Given the description of an element on the screen output the (x, y) to click on. 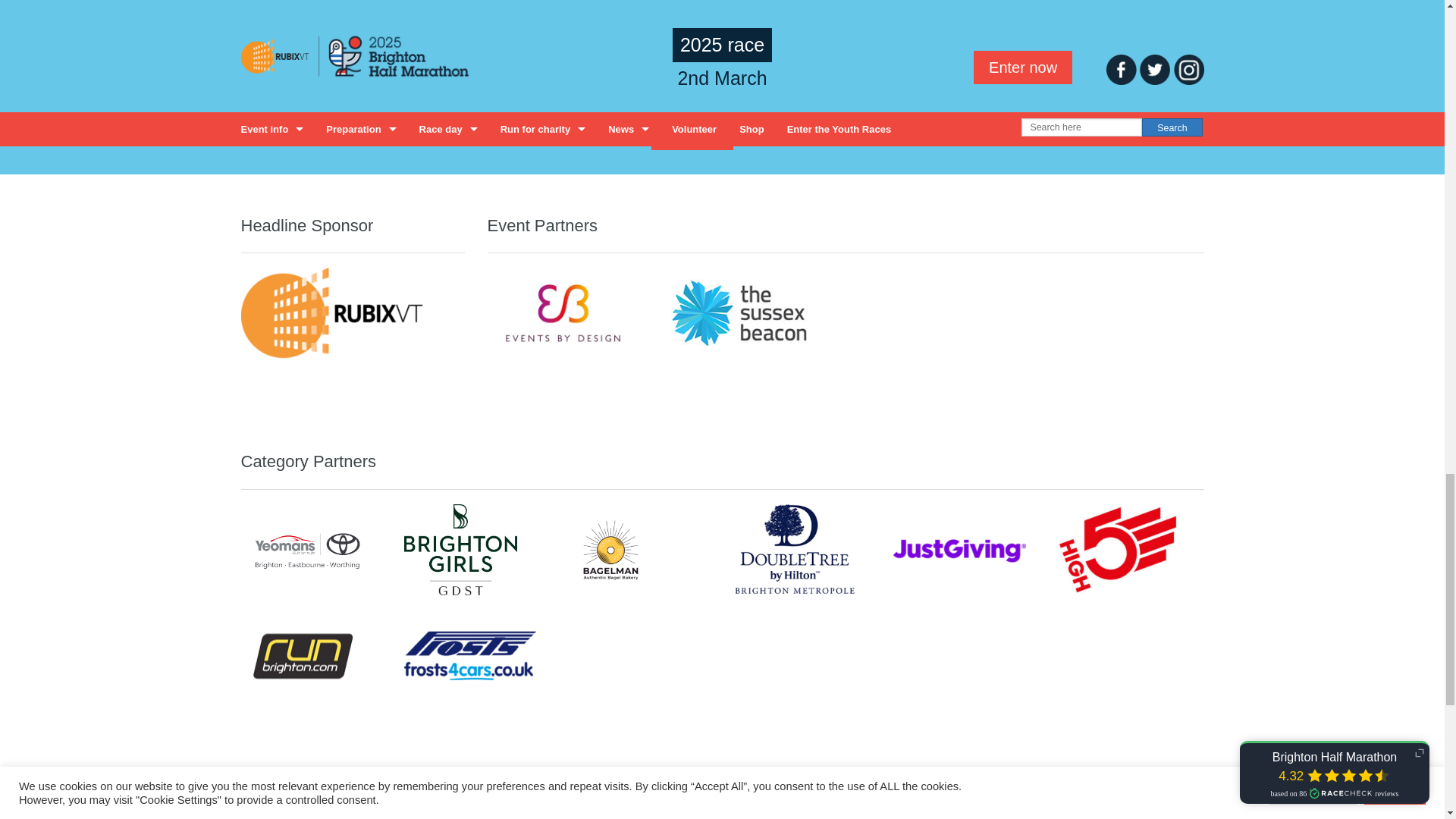
BrightonHalfMarathon (427, 102)
Run Brighton (301, 655)
DoubleTree by Hilton Brighton Metropole (794, 549)
HIGH5 (1116, 549)
brightonhalf (287, 102)
Just Giving (959, 549)
Yeomans Toyota (307, 549)
Frosts (470, 655)
The Sussex Beacon (738, 312)
Rubix VT (335, 313)
Brighton Girls GDST (459, 549)
Bagelman (610, 549)
